Given the description of an element on the screen output the (x, y) to click on. 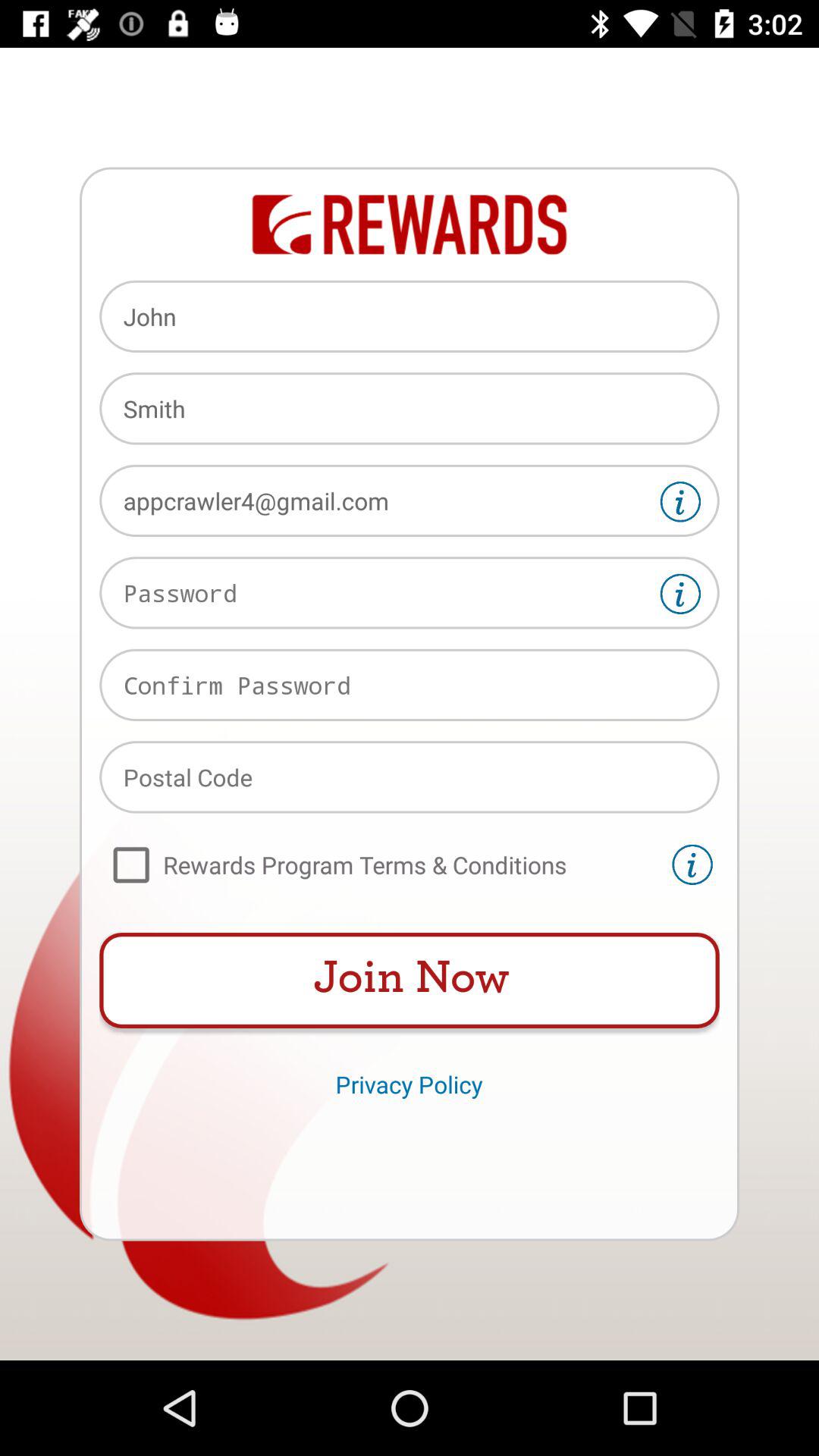
type postal code (409, 777)
